Given the description of an element on the screen output the (x, y) to click on. 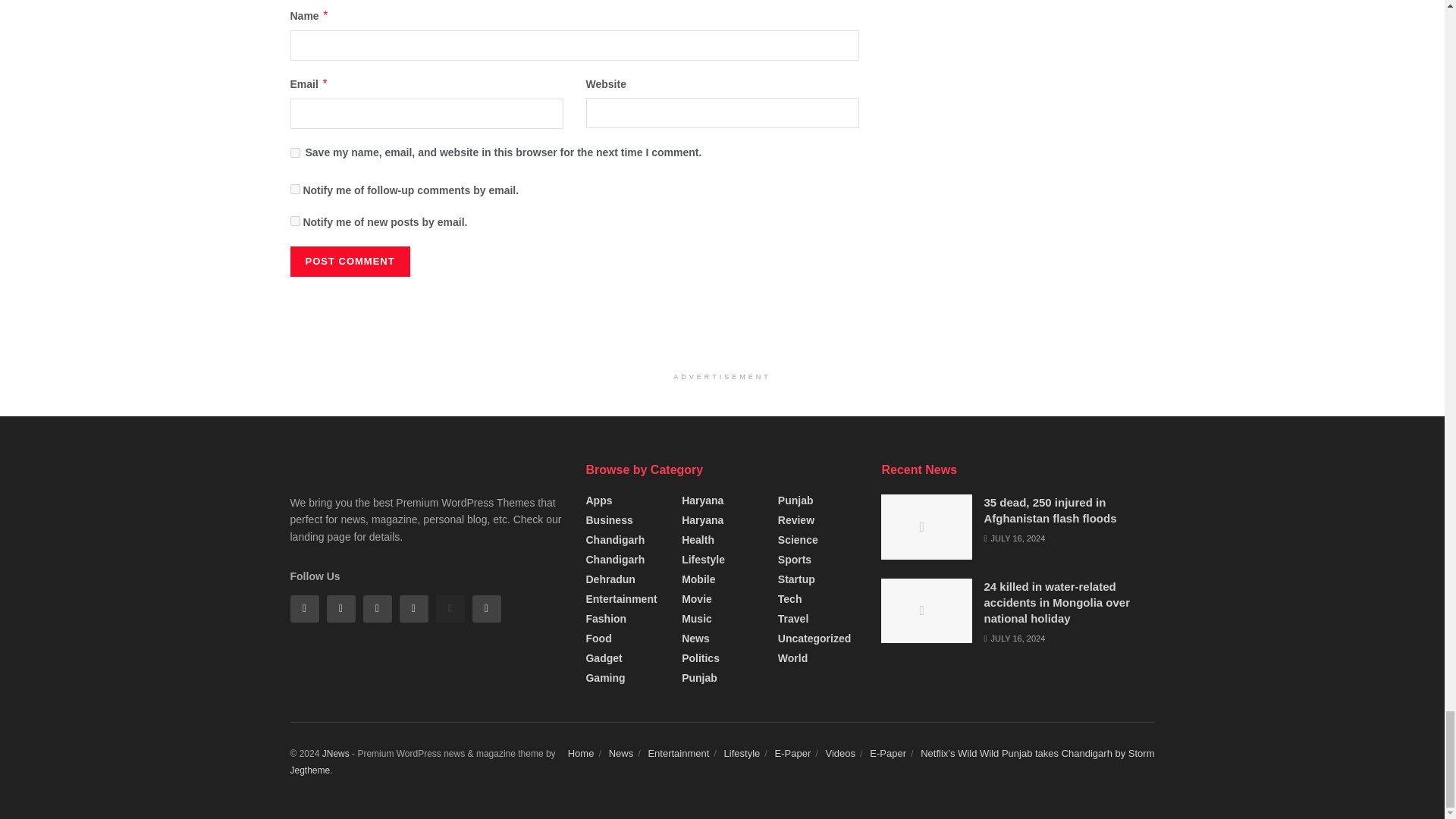
subscribe (294, 189)
Post Comment (349, 261)
Jegtheme (309, 769)
subscribe (294, 221)
yes (294, 153)
